Given the description of an element on the screen output the (x, y) to click on. 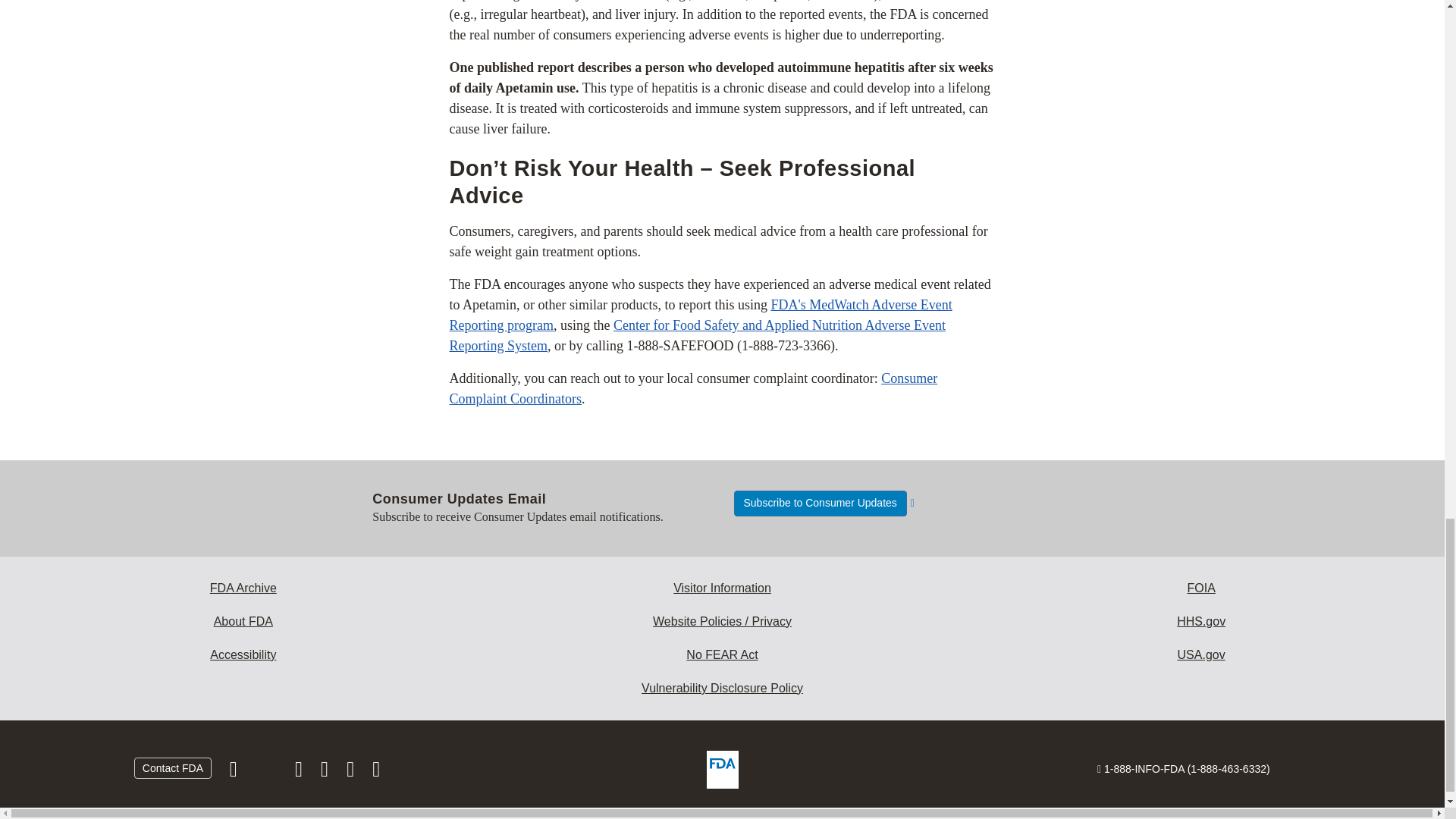
Health and Human Services (1200, 621)
Freedom of Information Act (1200, 588)
Follow FDA on Facebook (234, 772)
Consumer Complaint Coordinators (692, 388)
Follow FDA on LinkedIn (326, 772)
View FDA videos on YouTube (352, 772)
Follow FDA on Instagram (299, 772)
Follow FDA on X (266, 772)
Subscribe to FDA RSS feeds (376, 772)
